Given the description of an element on the screen output the (x, y) to click on. 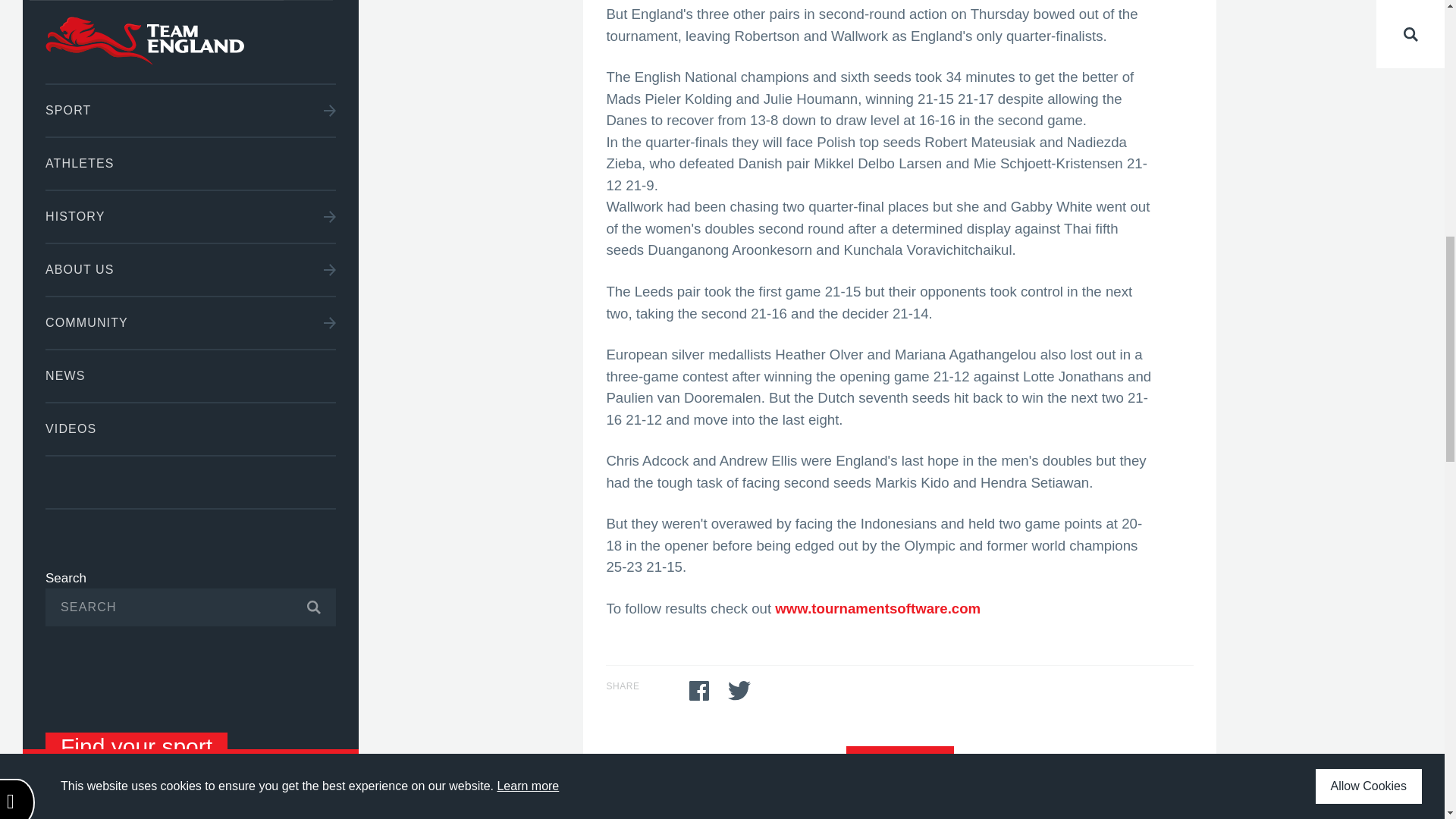
Share on Facebook (698, 690)
Share on Twitter (739, 690)
